Given the description of an element on the screen output the (x, y) to click on. 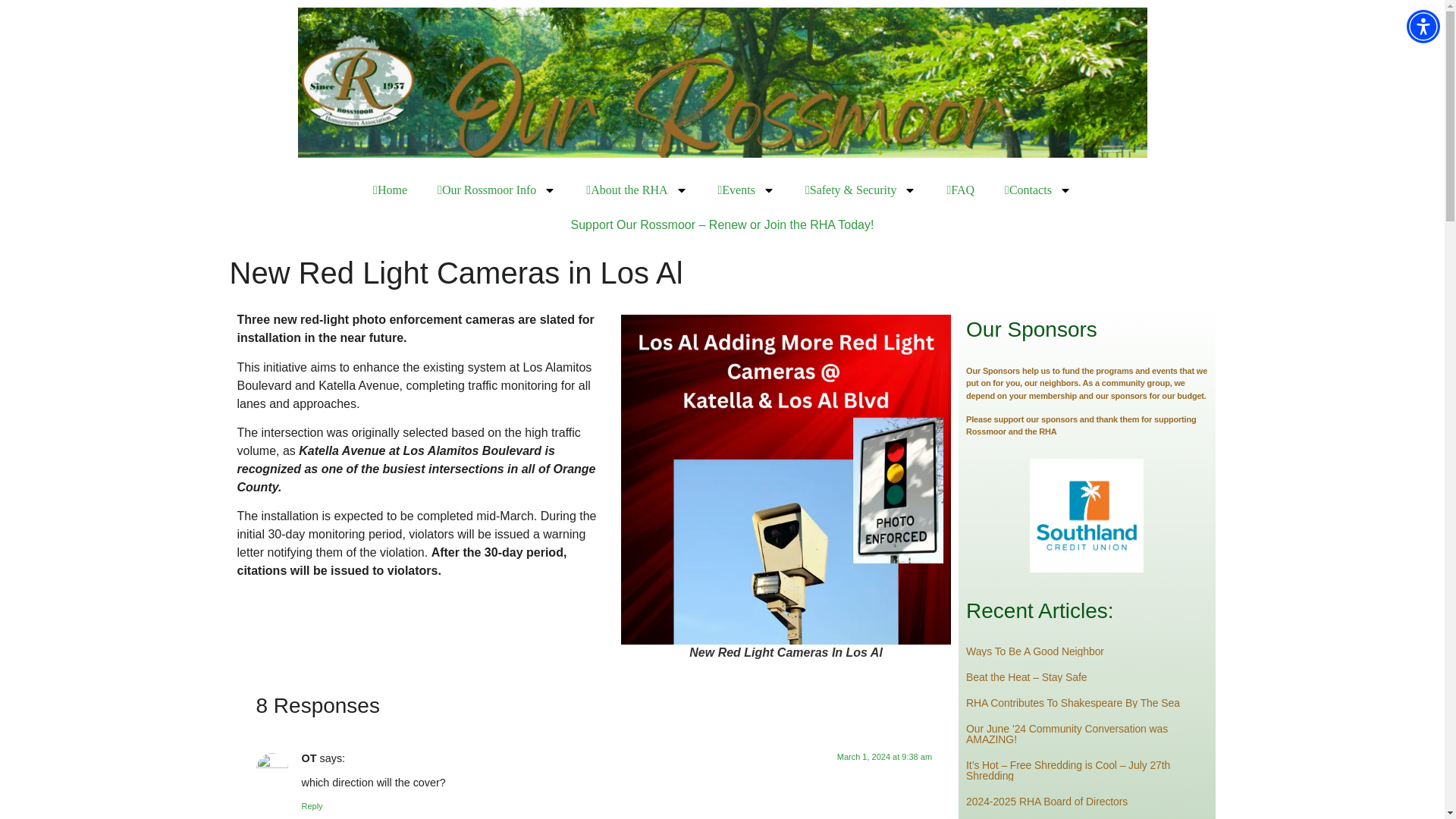
Events (745, 190)
About the RHA (635, 190)
Home (390, 190)
Our Rossmoor Info (496, 190)
New Red Light Cameras In Los Al 1 (785, 479)
Accessibility Menu (1422, 26)
